Given the description of an element on the screen output the (x, y) to click on. 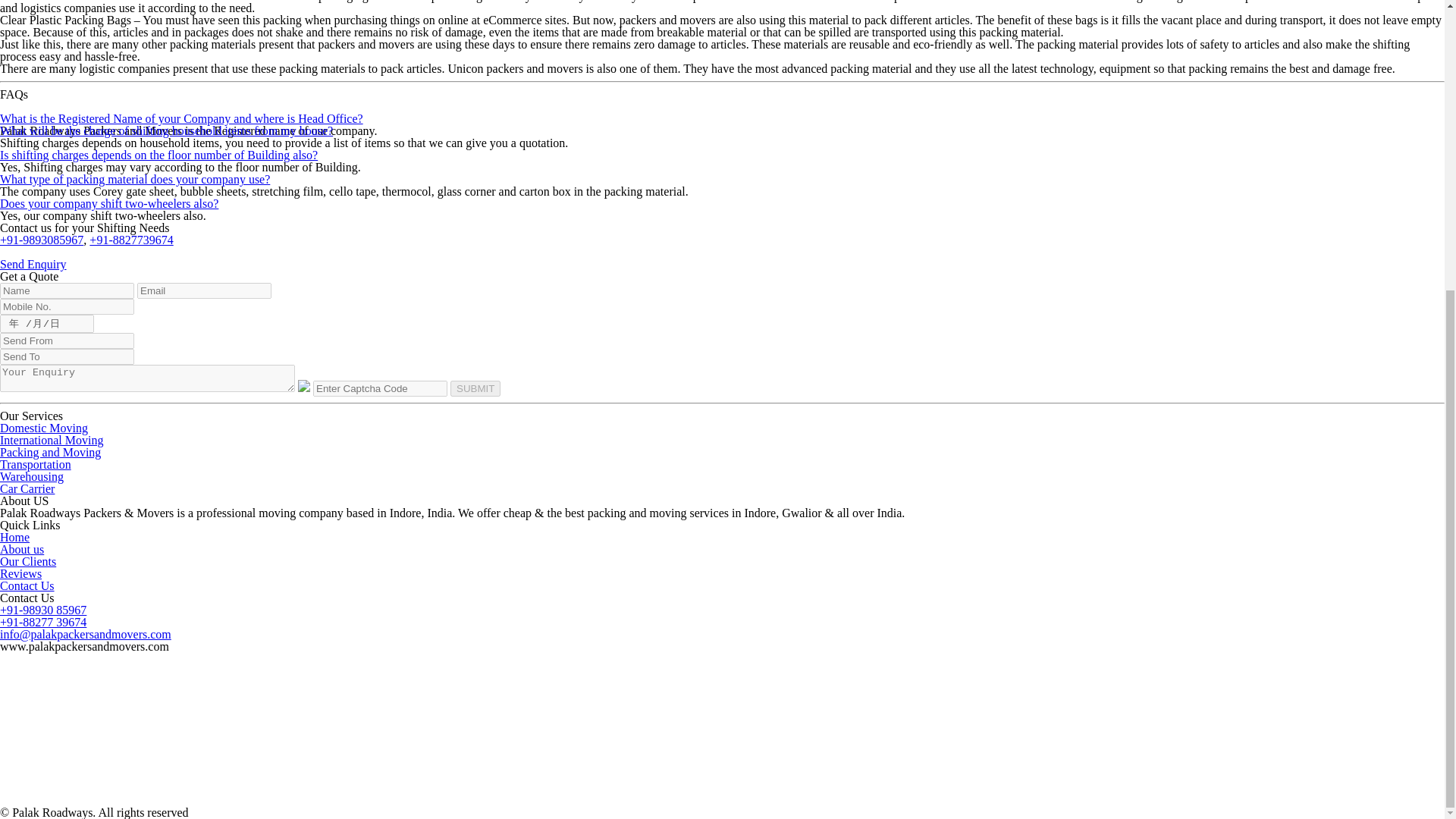
What type of packing material does your company use? (134, 178)
SUBMIT (474, 388)
SUBMIT (474, 388)
Send Enquiry (33, 264)
Domestic Moving (43, 427)
Does your company shift two-wheelers also? (109, 203)
